Given the description of an element on the screen output the (x, y) to click on. 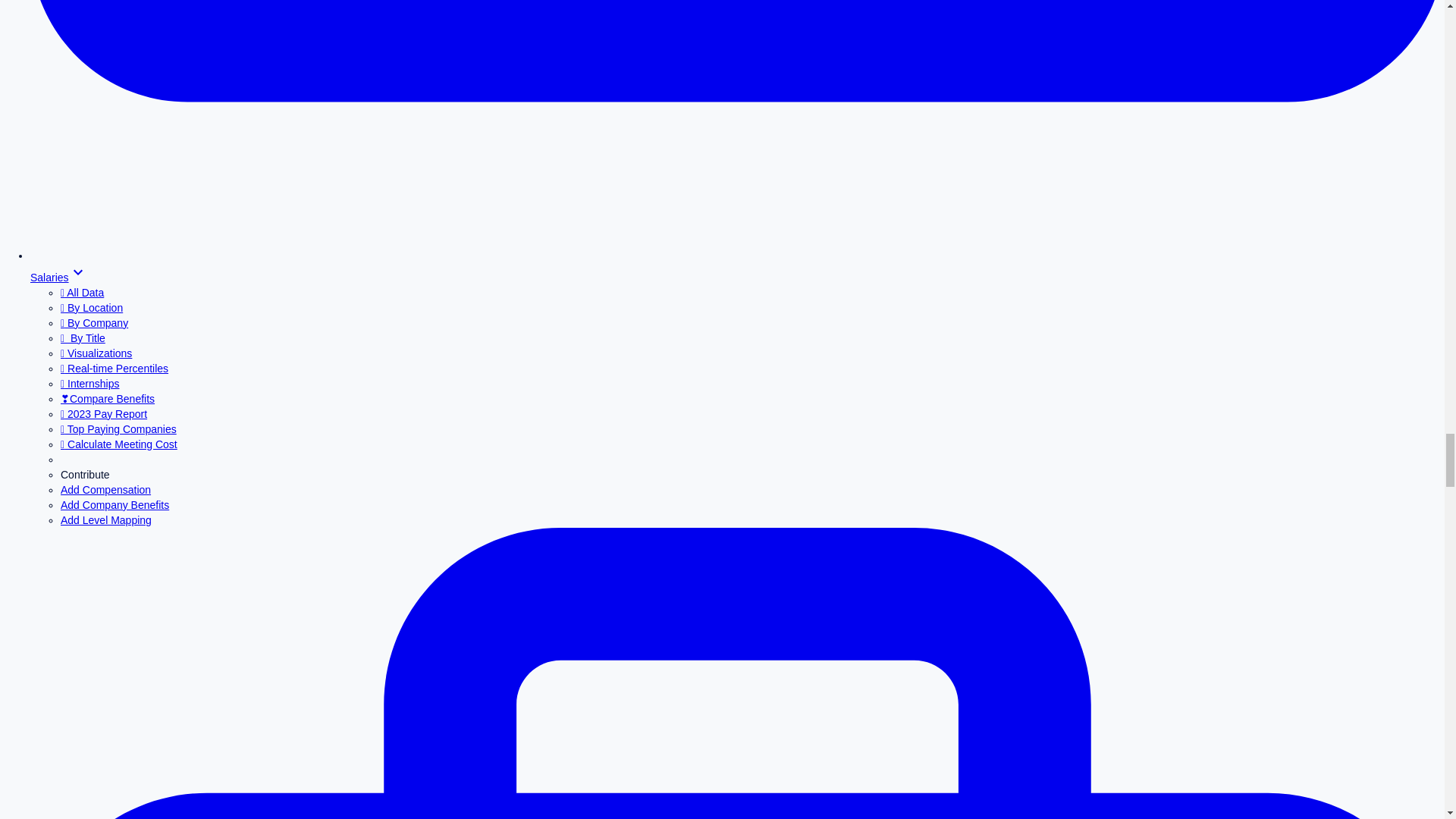
Add Company Benefits (114, 504)
Add Compensation (106, 490)
